Given the description of an element on the screen output the (x, y) to click on. 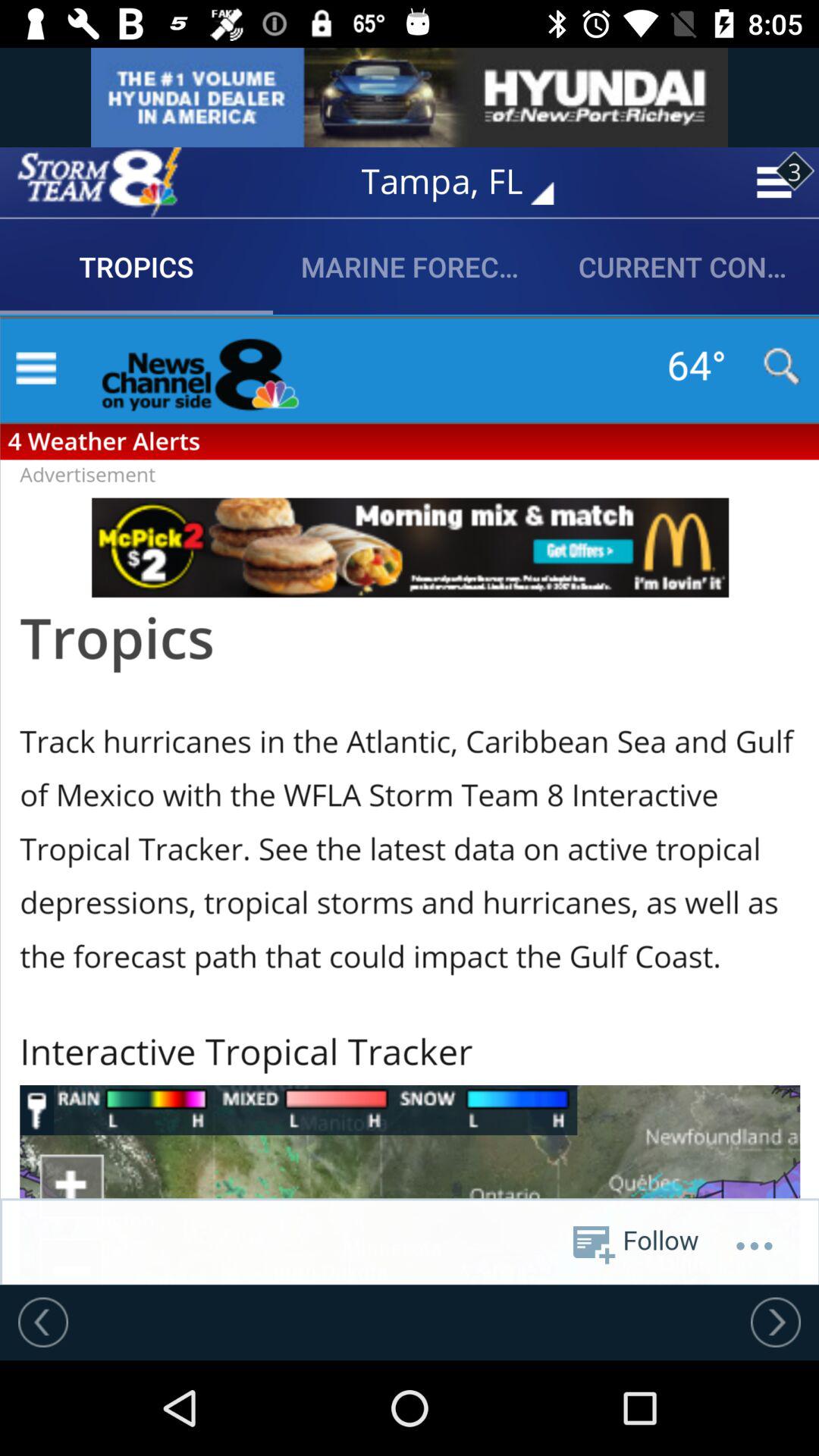
go to next page (775, 1322)
